Given the description of an element on the screen output the (x, y) to click on. 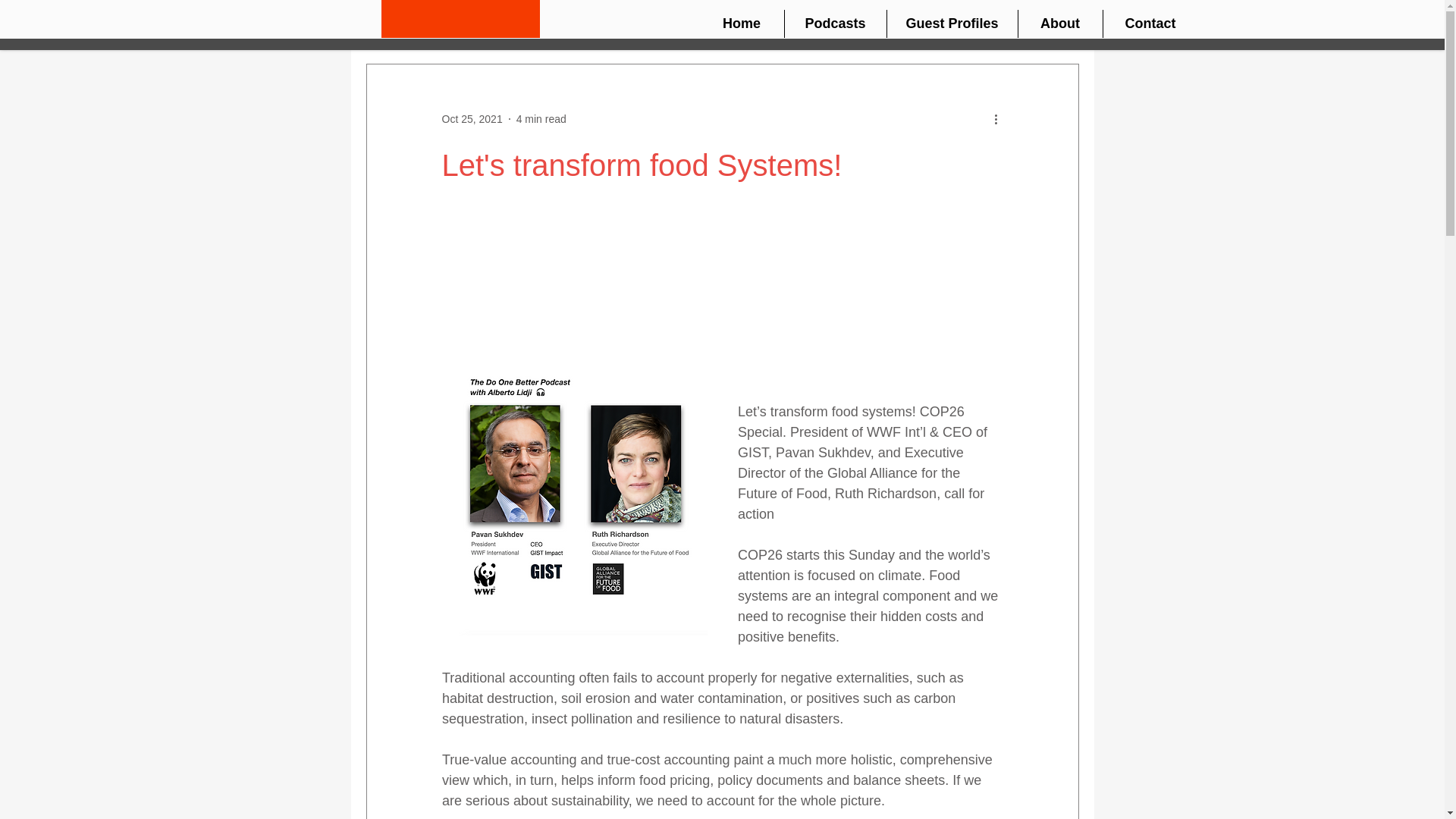
4 min read (541, 118)
About (1059, 23)
Guest Profiles (951, 23)
Podcasts (834, 23)
Oct 25, 2021 (471, 118)
Home (740, 23)
Contact (1149, 23)
